Given the description of an element on the screen output the (x, y) to click on. 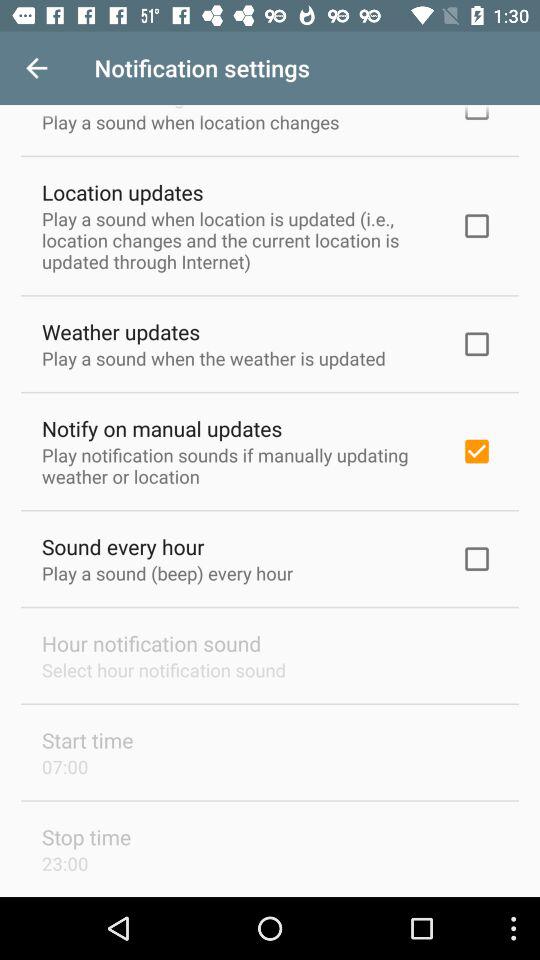
tap play notification sounds item (238, 465)
